Given the description of an element on the screen output the (x, y) to click on. 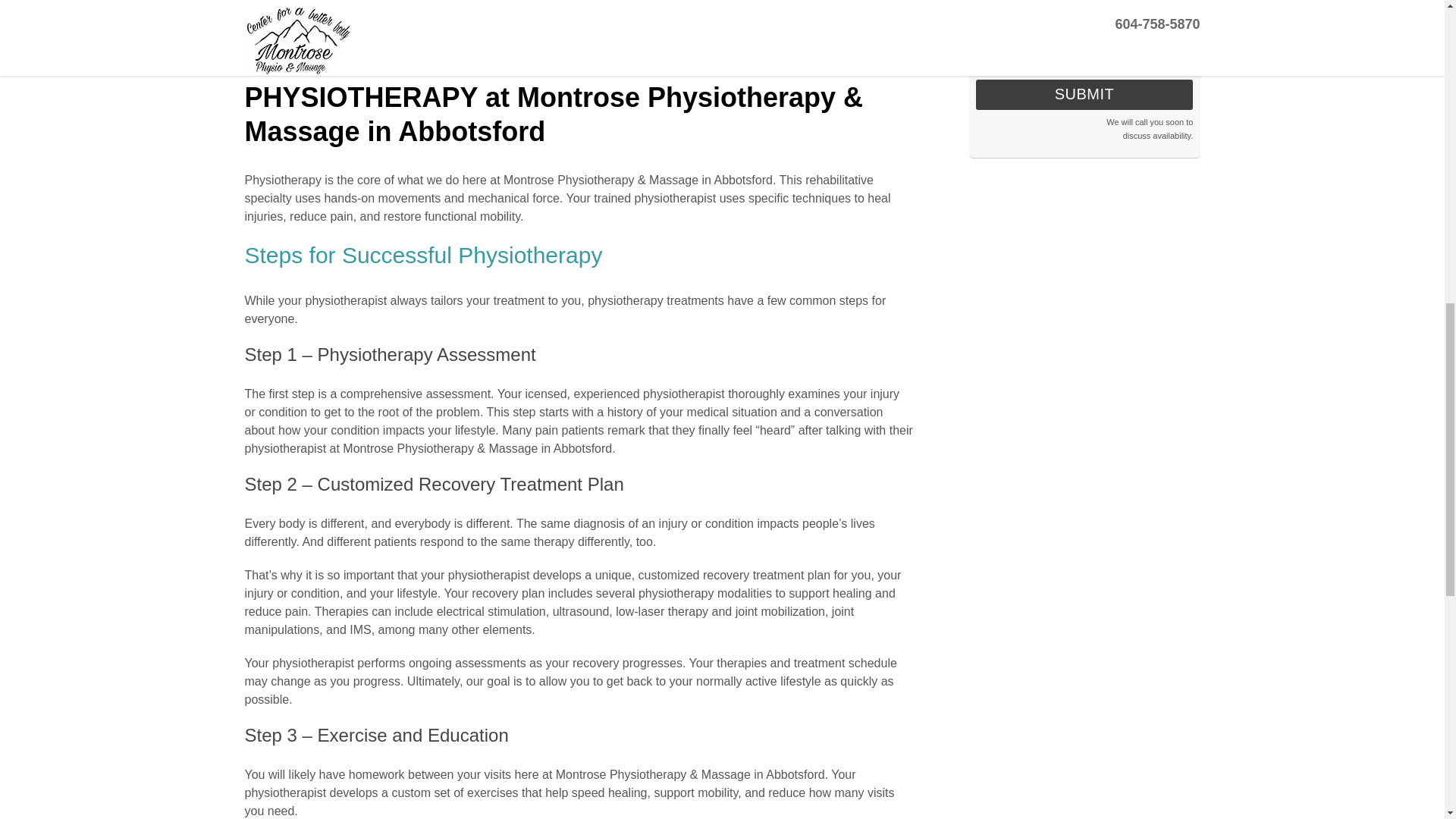
Phone: must be 10 digits long (1084, 11)
Submit (1084, 93)
